Given the description of an element on the screen output the (x, y) to click on. 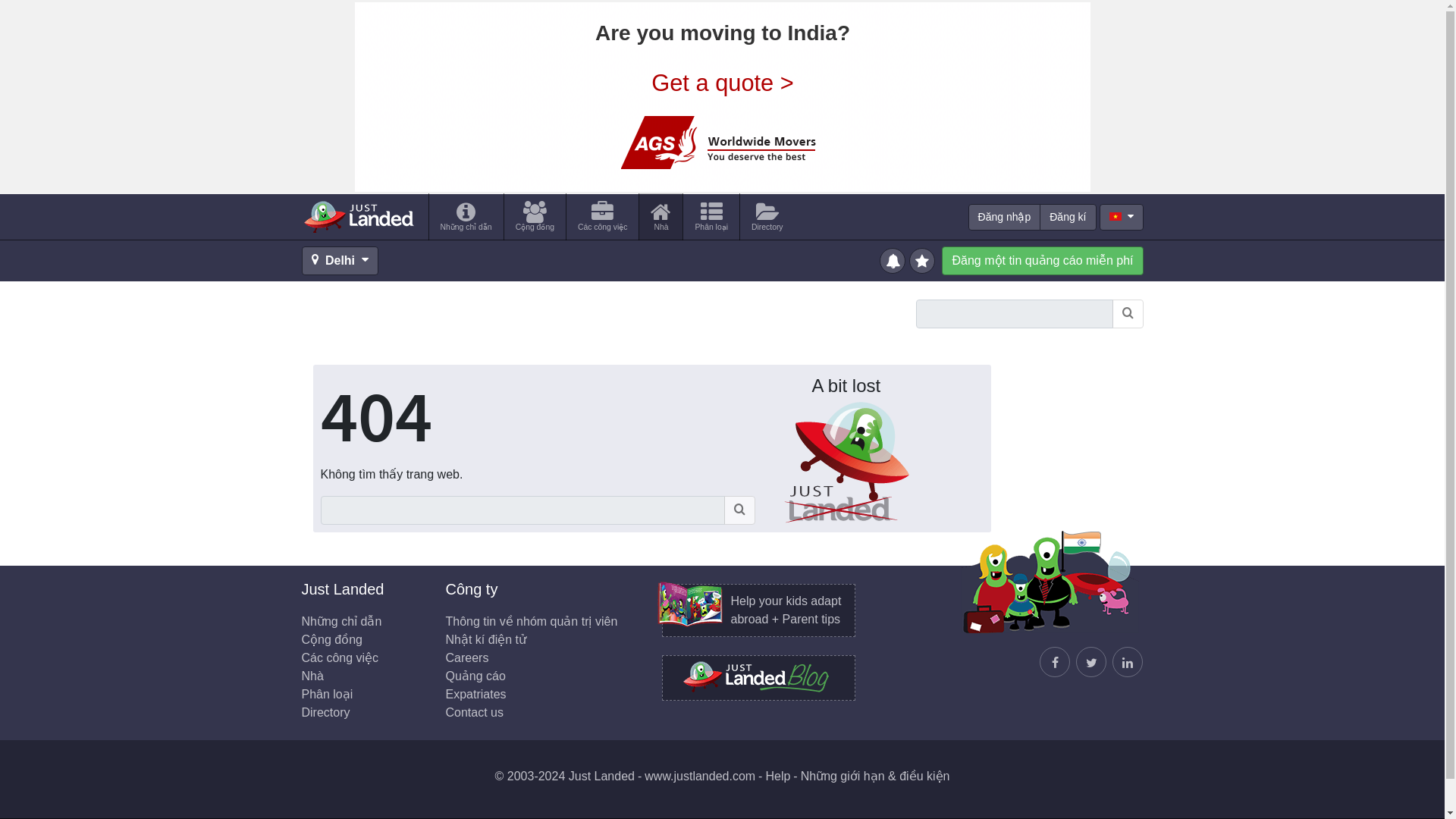
Expatriates (475, 694)
Just Landed (357, 216)
Delhi (339, 260)
Vietnamese (1114, 216)
Directory trong   Delhi (766, 216)
Directory (766, 216)
Directory (325, 712)
Careers (467, 657)
Alerts (893, 259)
Just Landed (357, 216)
Change location (339, 260)
